Given the description of an element on the screen output the (x, y) to click on. 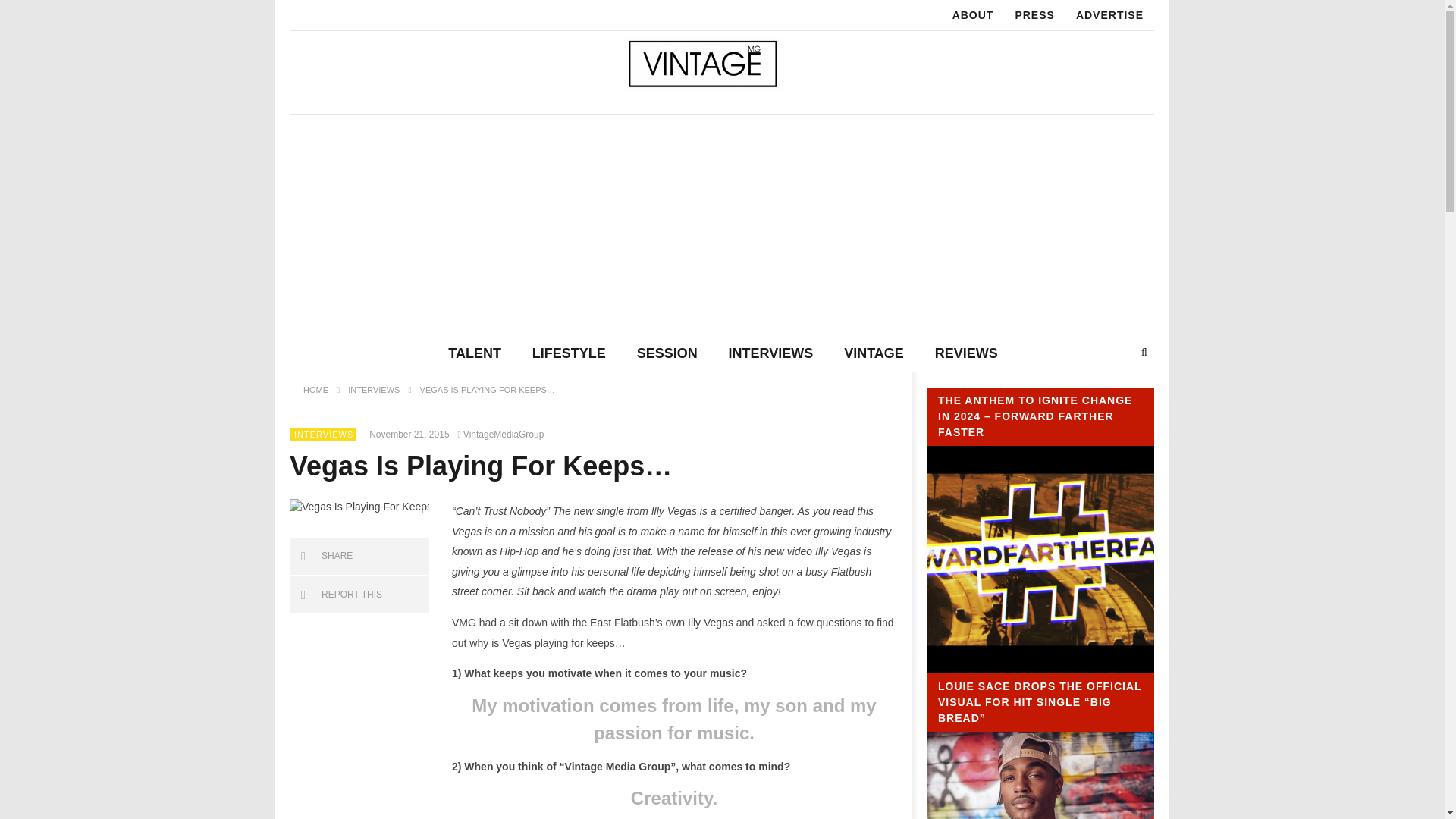
TALENT (474, 353)
VINTAGE (873, 353)
PRESS (1034, 15)
November 21, 2015 (411, 433)
VintageMediaGroup (502, 433)
View all posts in Interviews (323, 433)
INTERVIEWS (323, 433)
ADVERTISE (1109, 15)
LIFESTYLE (568, 353)
Posts by VintageMediaGroup (502, 433)
share (359, 556)
Vintage Media Group (703, 64)
INTERVIEWS (770, 353)
INTERVIEWS (372, 388)
